Given the description of an element on the screen output the (x, y) to click on. 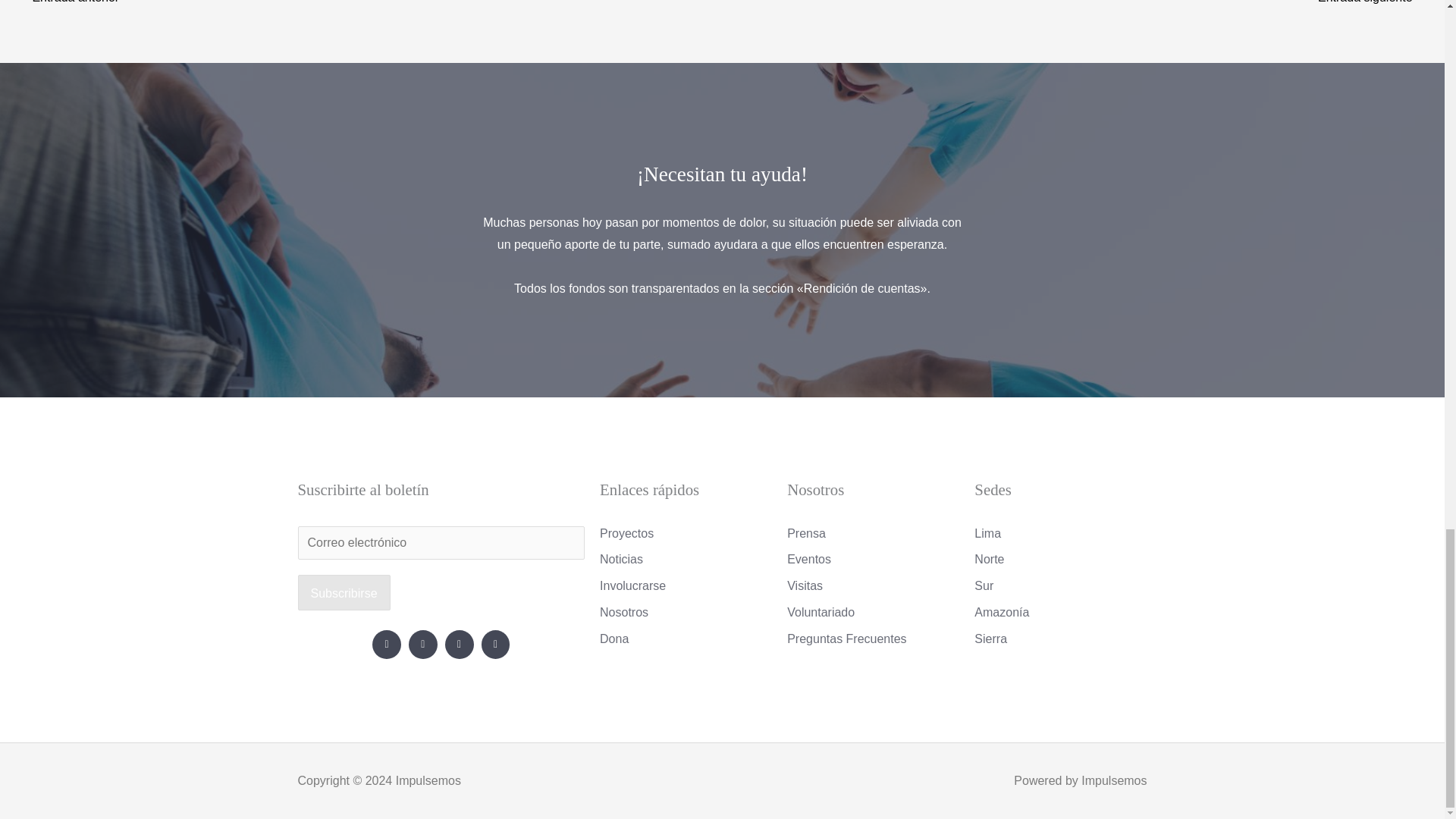
Norte (1060, 558)
Twitter (423, 644)
Visitas (873, 585)
Eventos (873, 558)
Youtube (459, 644)
Nosotros (685, 612)
Noticias (685, 558)
Sierra (1060, 639)
Subscribirse (343, 592)
Prensa (873, 533)
Involucrarse (685, 585)
Home remedies Sev Menu (1372, 6)
Instagram (496, 644)
Preguntas Frecuentes (873, 639)
